Given the description of an element on the screen output the (x, y) to click on. 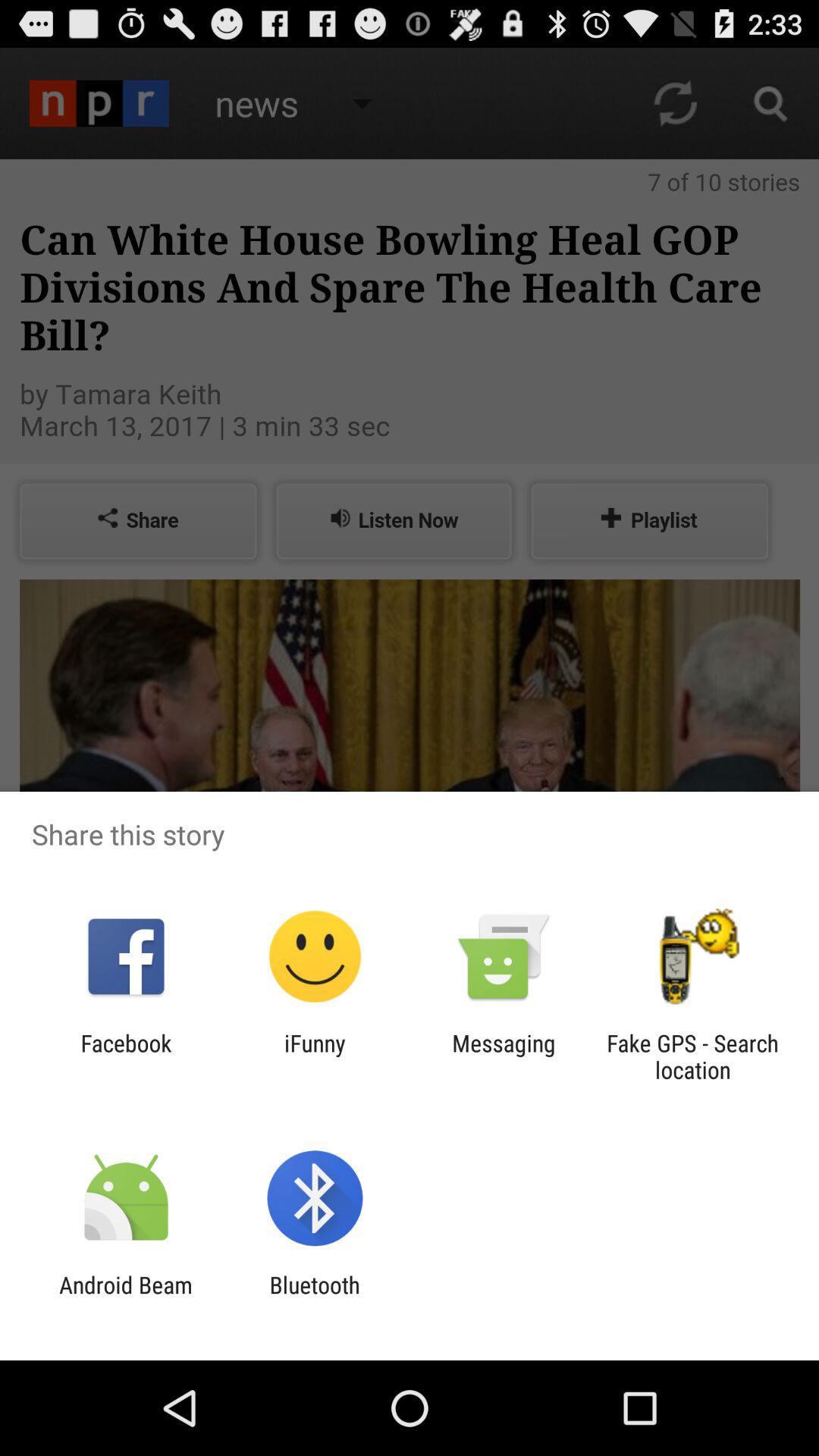
tap facebook icon (125, 1056)
